Given the description of an element on the screen output the (x, y) to click on. 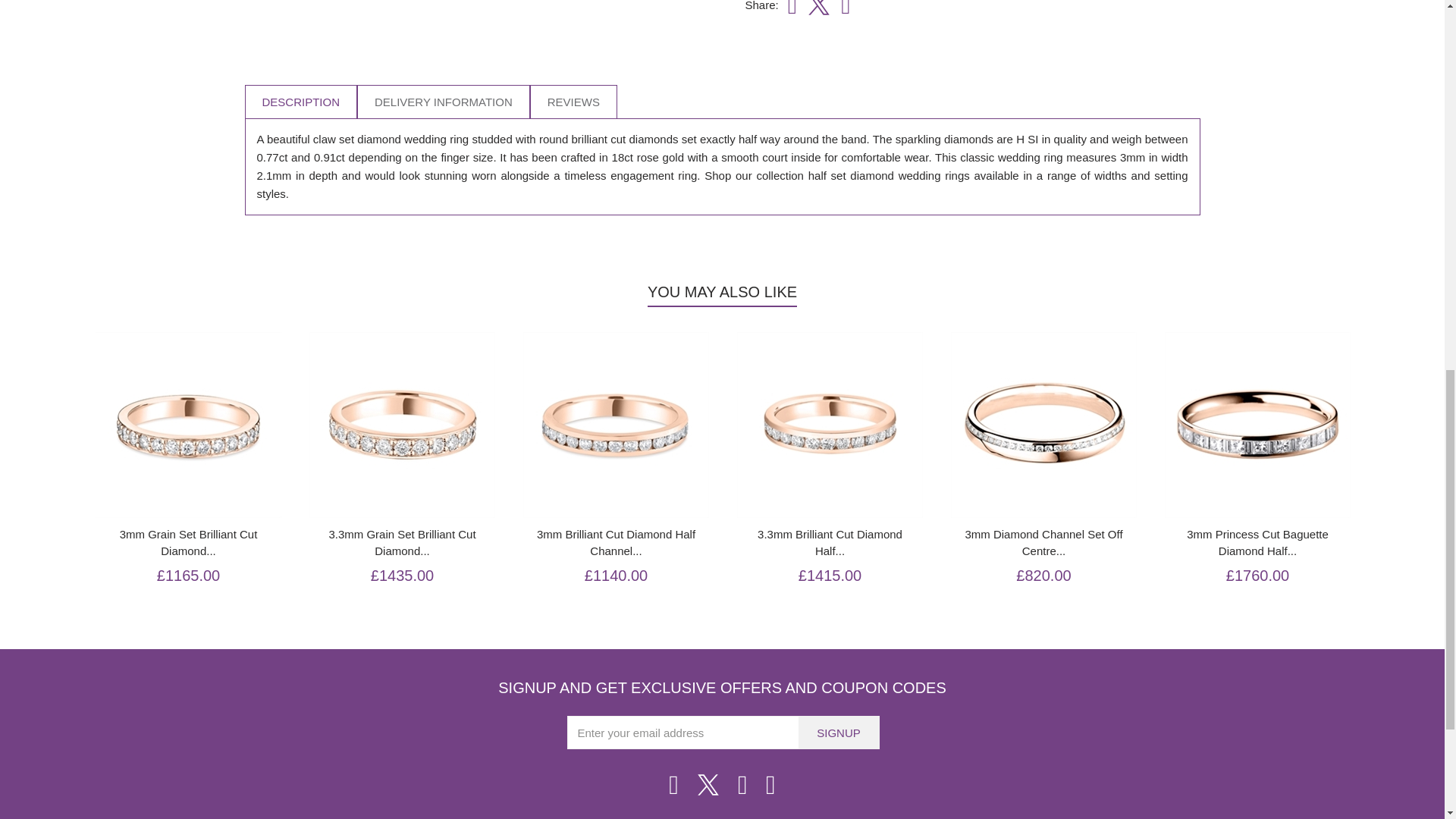
3mm Diamond Channel Set Off Centre... (1043, 542)
3.3mm Brilliant Cut Diamond Half... (829, 542)
3mm Princess Cut Baguette Diamond Half... (1257, 542)
3mm Princess Cut Baguette Diamond Half... (1257, 542)
3mm Brilliant Cut Diamond Half Channel... (616, 542)
3.3mm Brilliant Cut Diamond Half... (829, 542)
3mm Brilliant Cut Diamond Half Channel... (616, 542)
3.3mm Grain Set Brilliant Cut Diamond... (402, 542)
3.3mm Grain Set Brilliant Cut Diamond... (402, 542)
3mm Grain Set Brilliant Cut Diamond... (188, 542)
3mm Grain Set Brilliant Cut Diamond... (188, 542)
signup (838, 732)
3mm Diamond Channel Set Off Centre... (1043, 542)
